Given the description of an element on the screen output the (x, y) to click on. 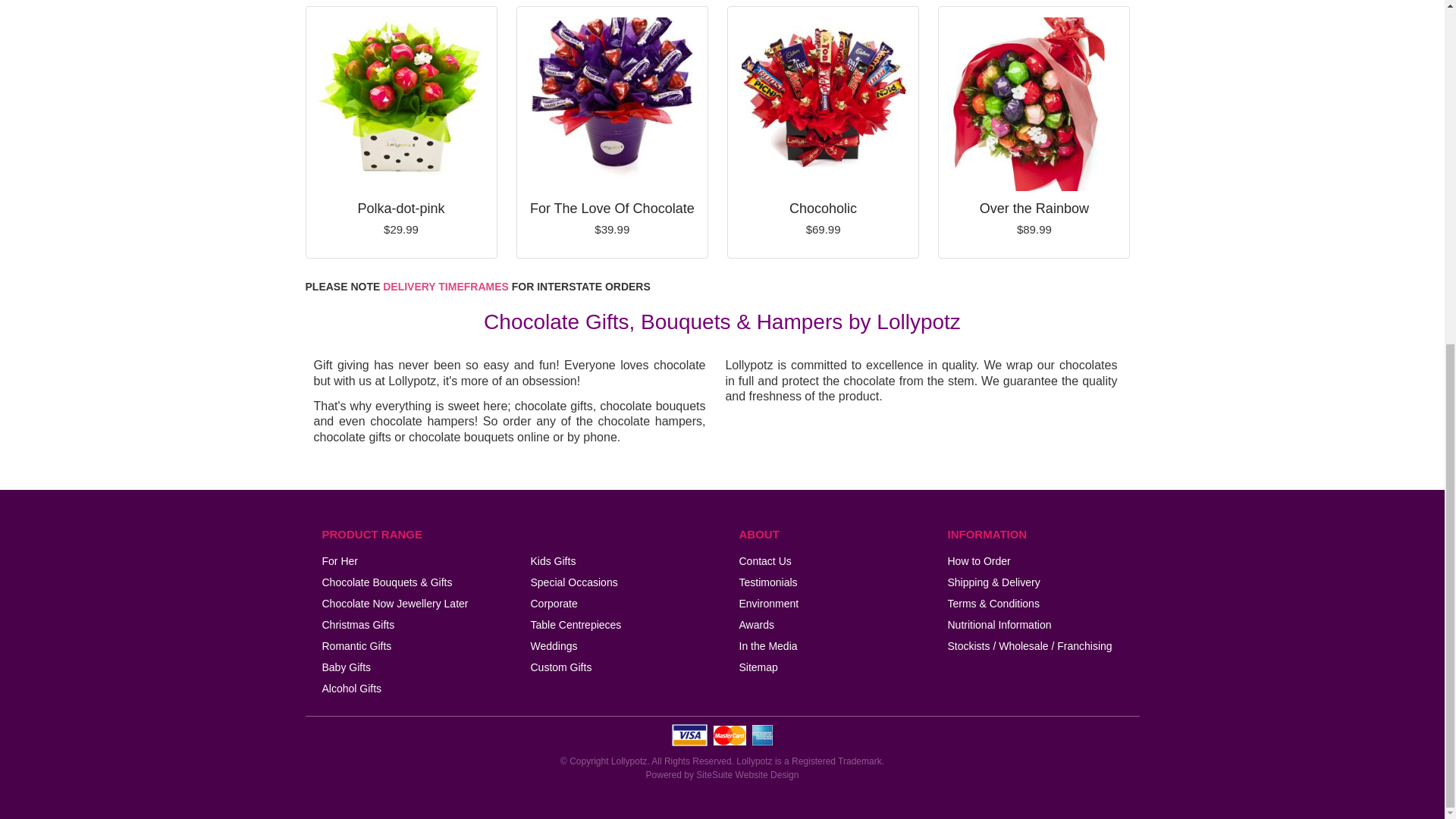
For The Love Of Chocolate (611, 106)
Polka-dot-pink (400, 106)
Chocoholic (823, 106)
Over the Rainbow (1034, 106)
